Given the description of an element on the screen output the (x, y) to click on. 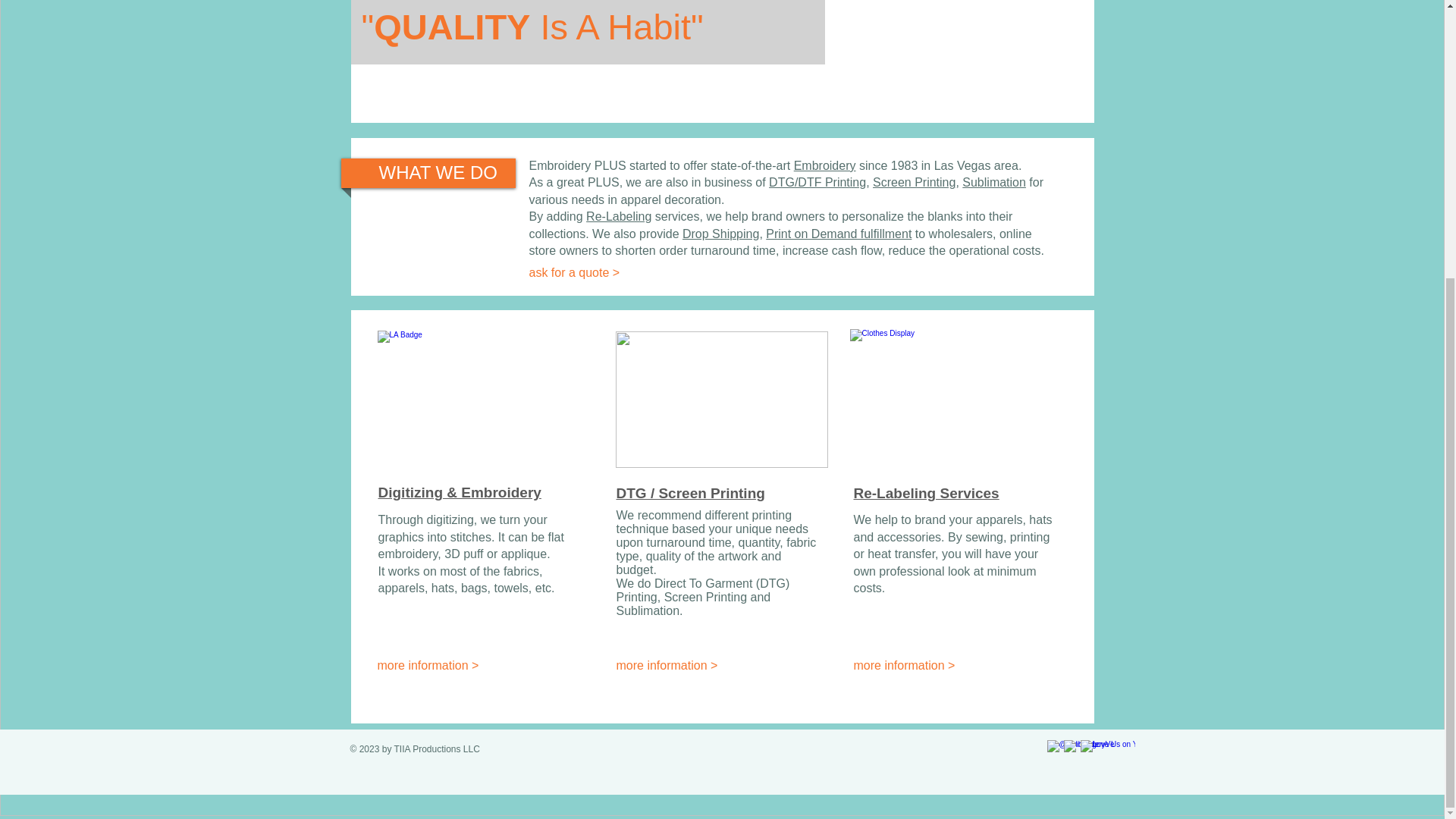
Print on Demand fulfillment (838, 233)
Screen Printing (913, 182)
Re-Labeling (618, 215)
Drop Shipping (720, 233)
Re-Labeling Services (925, 493)
Embroidery (824, 164)
